Given the description of an element on the screen output the (x, y) to click on. 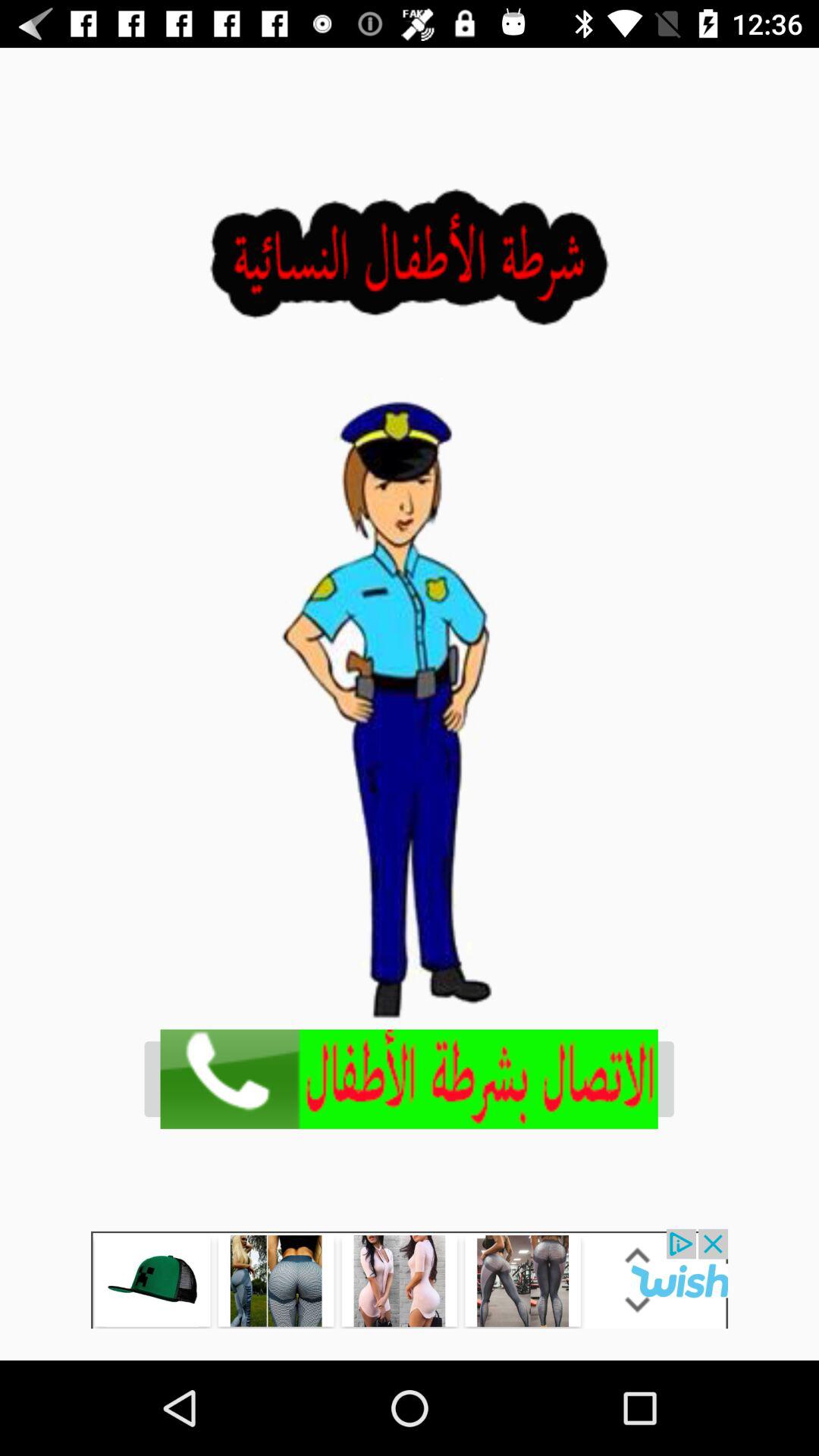
advertisement image (408, 1078)
